Given the description of an element on the screen output the (x, y) to click on. 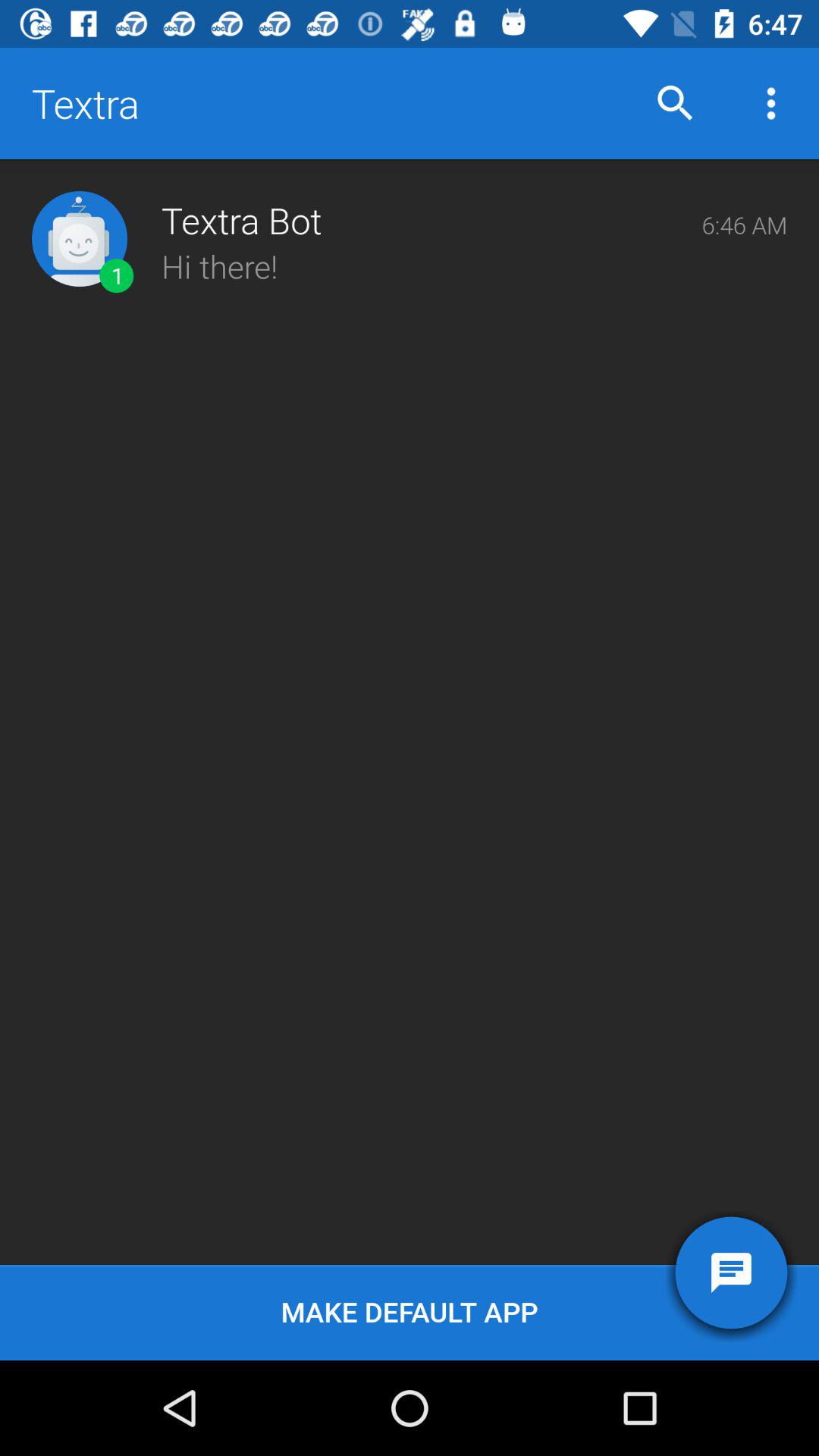
press the item above the 6:46 am icon (771, 103)
